Given the description of an element on the screen output the (x, y) to click on. 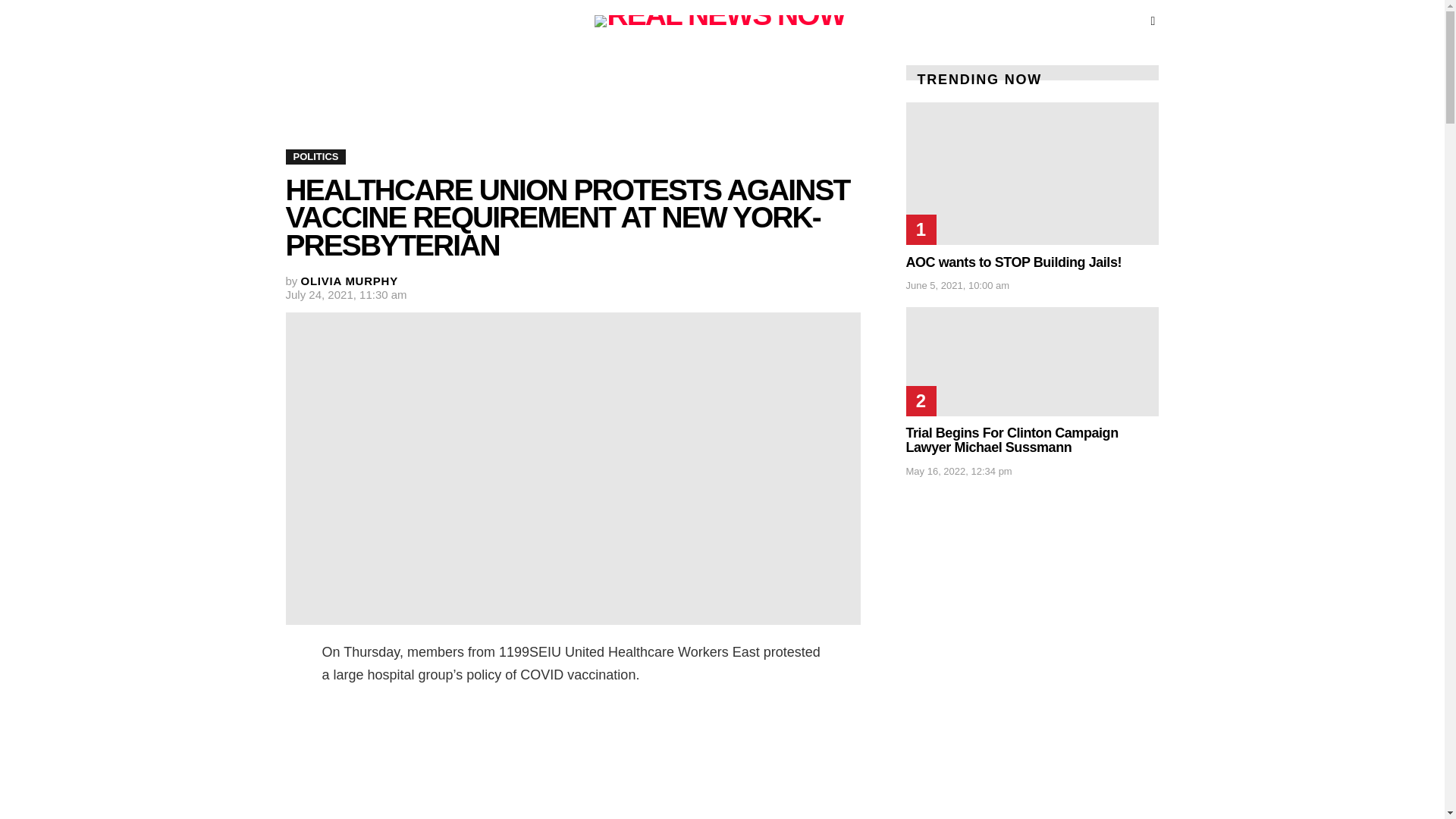
POLITICS (315, 156)
OLIVIA MURPHY (349, 280)
Posts by Olivia Murphy (349, 280)
